Given the description of an element on the screen output the (x, y) to click on. 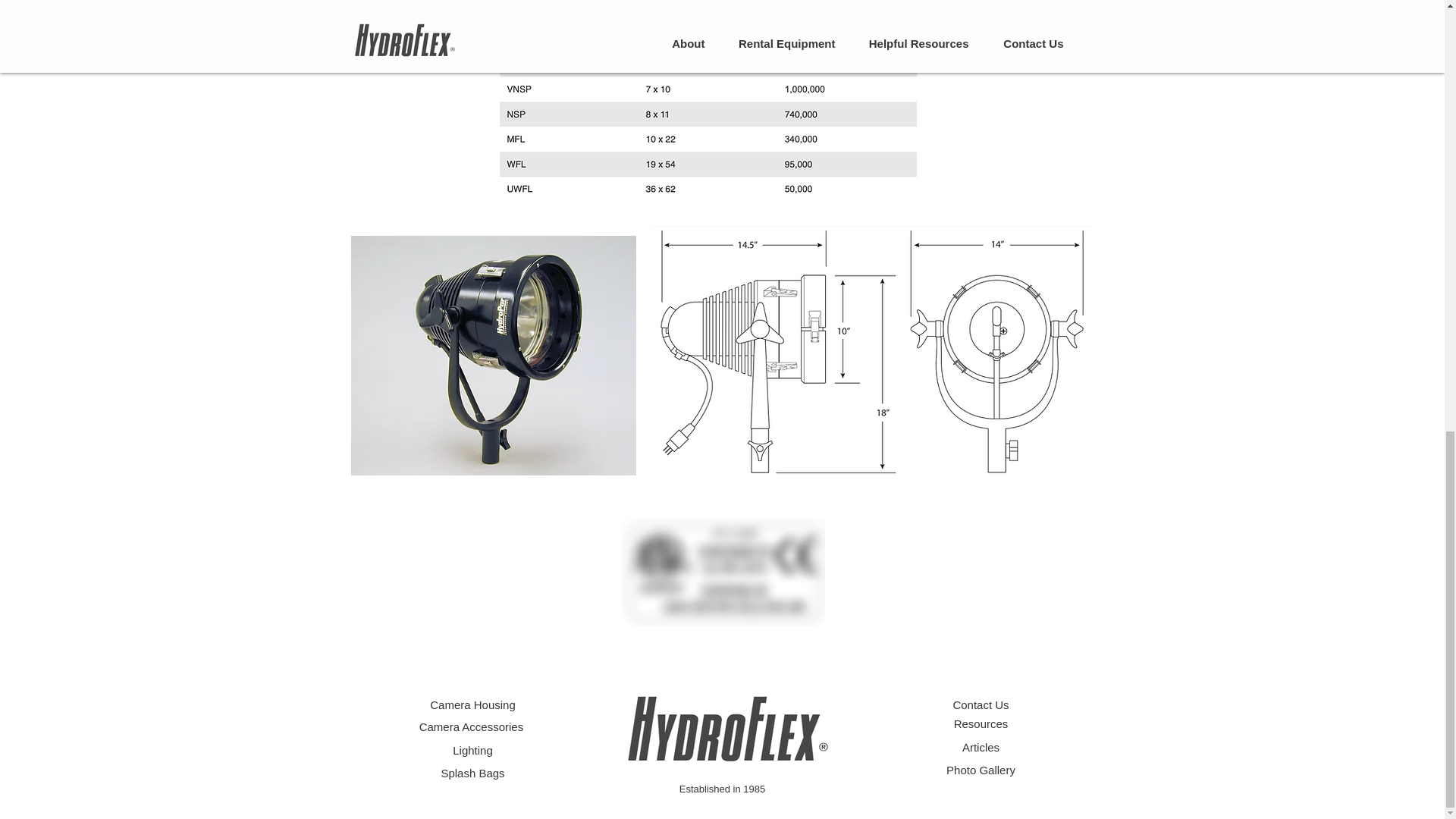
Splash Bags (472, 772)
Articles (980, 747)
Resources (981, 723)
Camera Accessories  (473, 726)
Camera Housing (472, 704)
Lighting (472, 749)
Photo Gallery (980, 769)
Contact Us (980, 704)
